Given the description of an element on the screen output the (x, y) to click on. 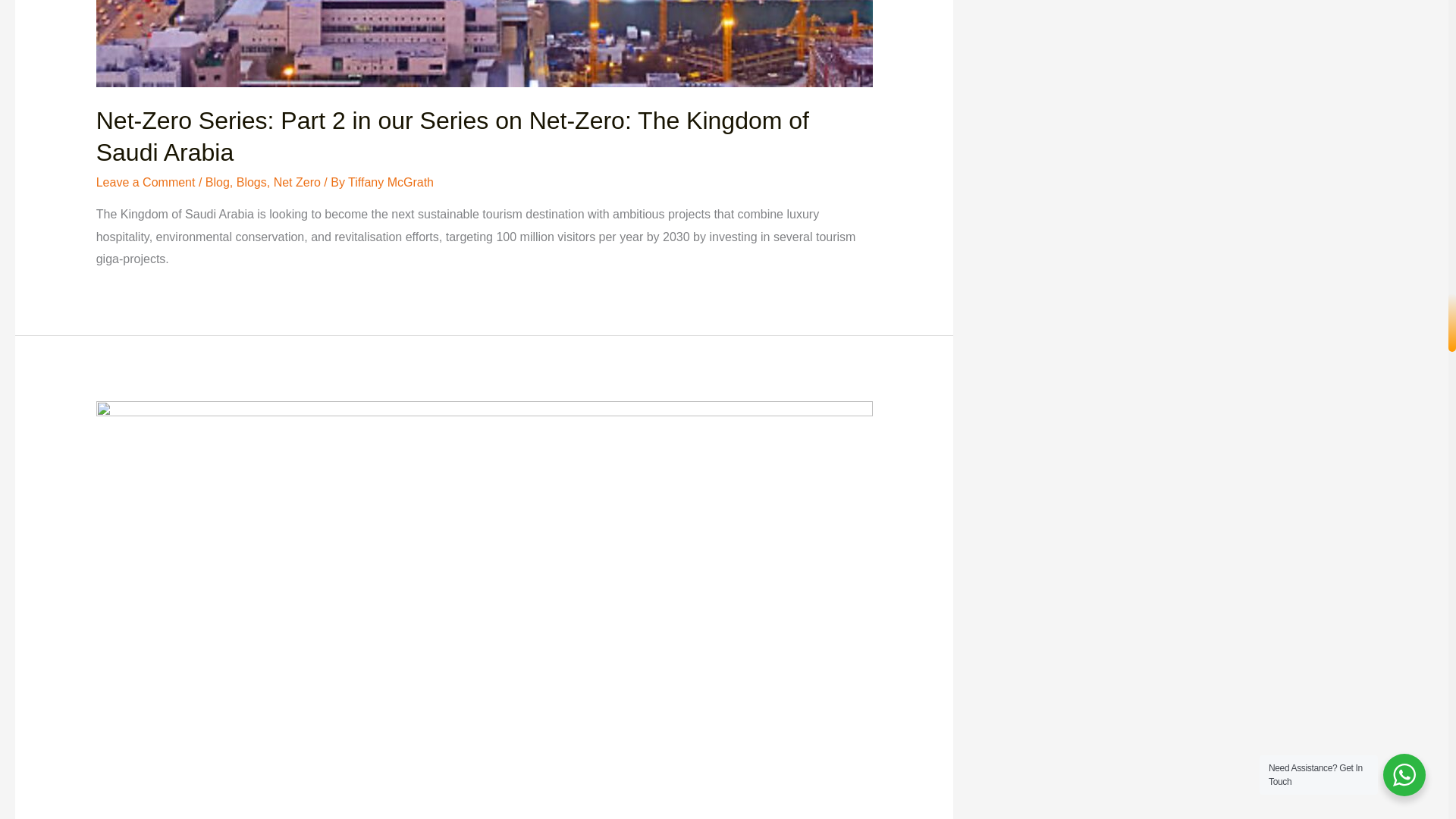
View all posts by Tiffany McGrath (390, 182)
